Given the description of an element on the screen output the (x, y) to click on. 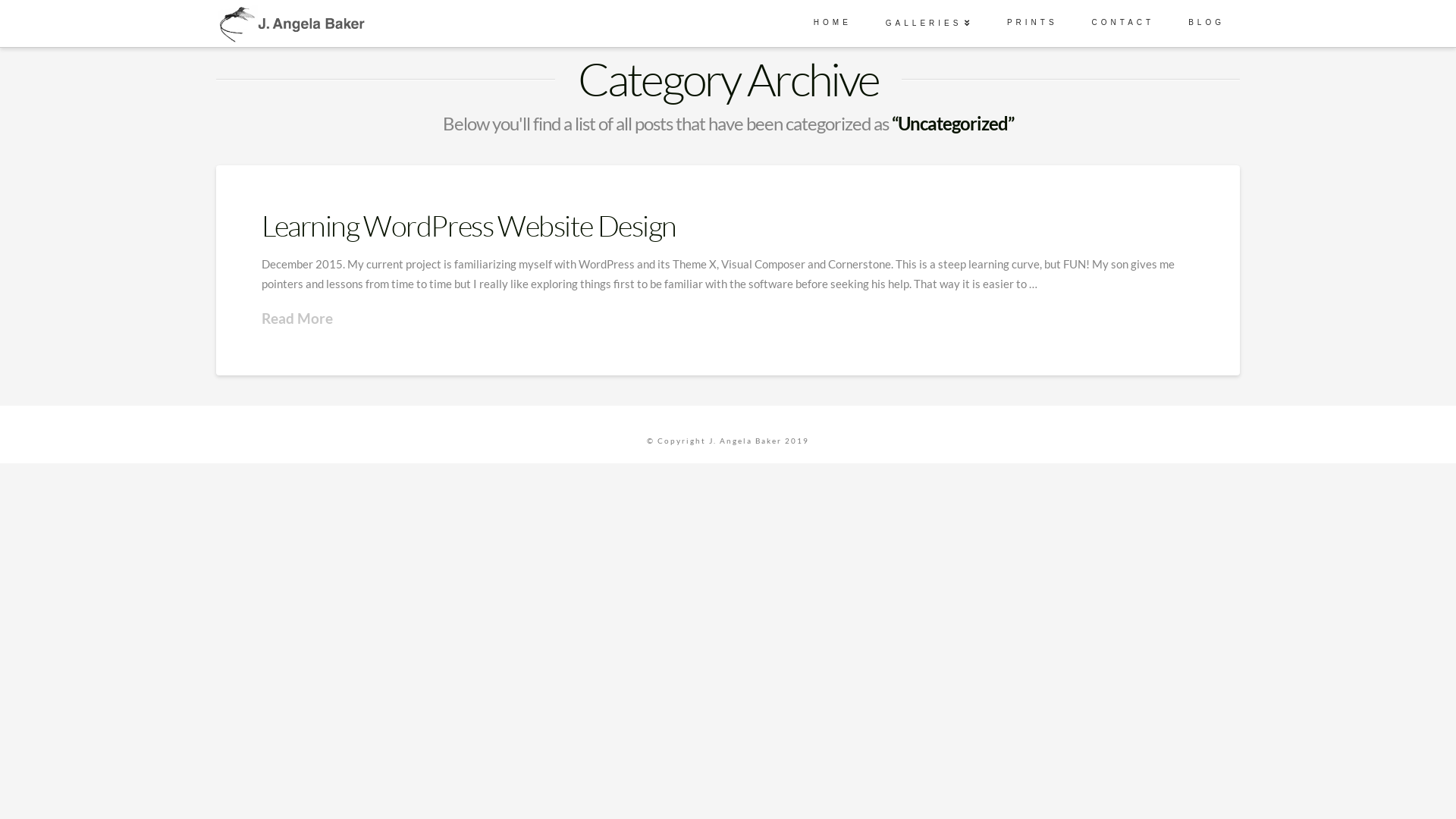
Read More Element type: text (296, 318)
PRINTS Element type: text (1030, 15)
GALLERIES Element type: text (927, 15)
HOME Element type: text (830, 15)
CONTACT Element type: text (1121, 15)
Learning WordPress Website Design Element type: text (468, 225)
BLOG Element type: text (1204, 15)
